Given the description of an element on the screen output the (x, y) to click on. 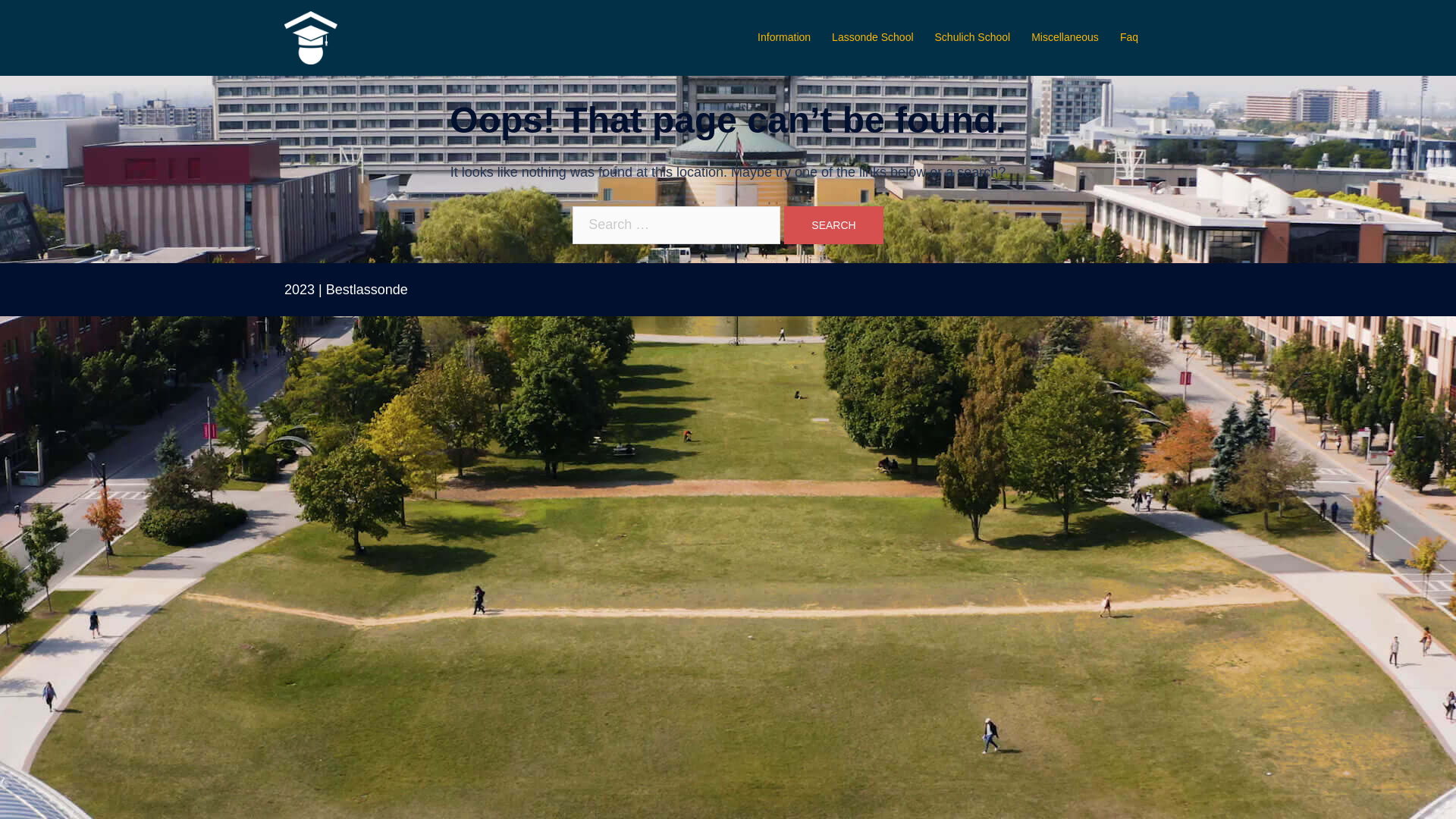
Search Element type: text (833, 225)
Schulich School Element type: text (972, 37)
Miscellaneous Element type: text (1064, 37)
Information Element type: text (783, 37)
Faq Element type: text (1129, 37)
Lassonde School Element type: text (872, 37)
Bestlassonde Element type: hover (310, 36)
